Given the description of an element on the screen output the (x, y) to click on. 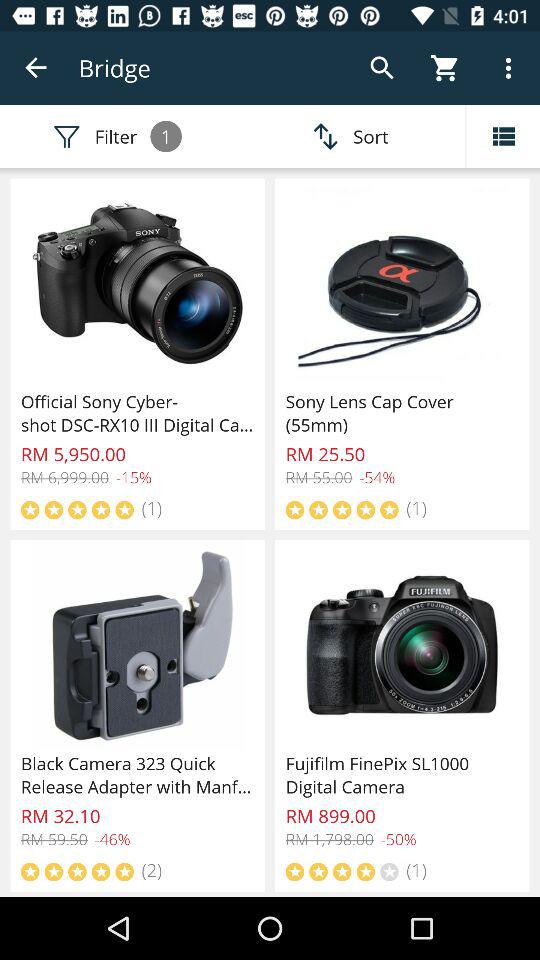
press app to the left of bridge app (36, 68)
